Given the description of an element on the screen output the (x, y) to click on. 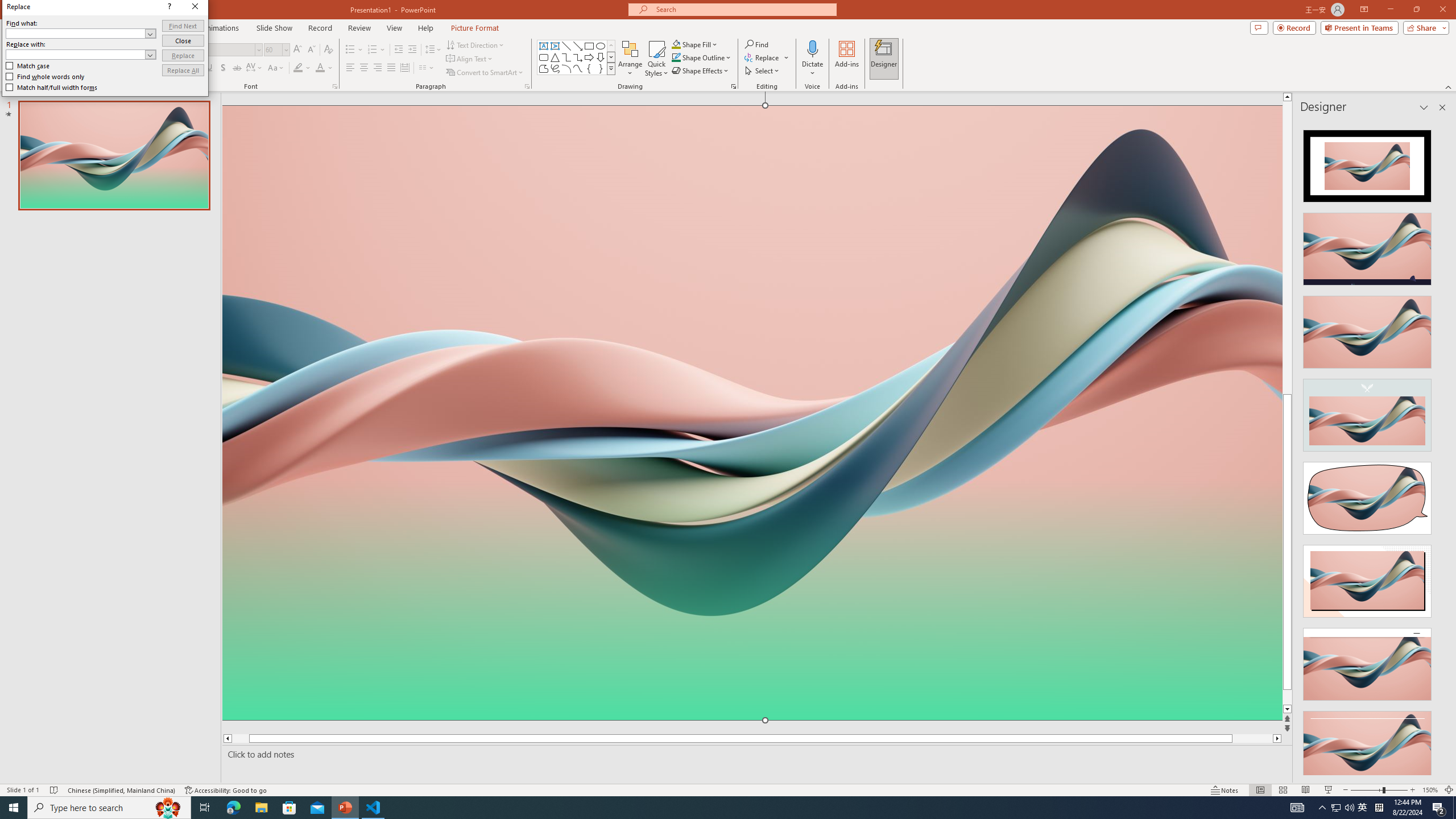
Arrow: Right (589, 57)
Text Highlight Color Yellow (297, 67)
Decorative Locked (752, 579)
Find whole words only (718, 350)
Design Idea (1366, 743)
Replace (857, 328)
Decrease Indent (398, 49)
Recommended Design: Design Idea (1366, 162)
Connector: Elbow (566, 57)
Slide Notes (754, 754)
Center (363, 67)
Shape Outline Blue, Accent 1 (675, 56)
